Given the description of an element on the screen output the (x, y) to click on. 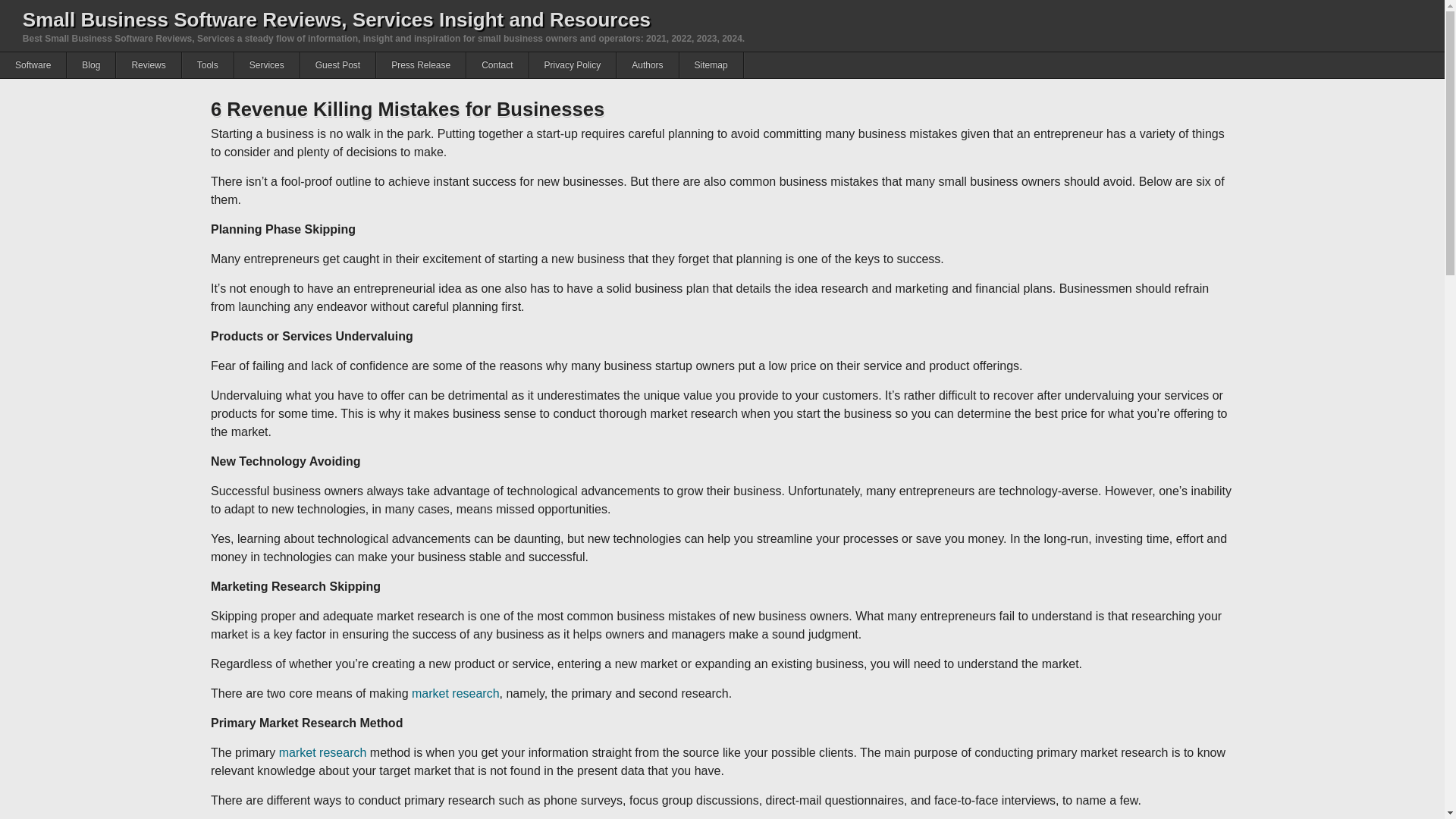
Press Release (420, 64)
Blog (91, 64)
Tools (208, 64)
market research (455, 693)
Authors (646, 64)
Privacy Policy (573, 64)
Sitemap (711, 64)
Software (33, 64)
Services (266, 64)
